Given the description of an element on the screen output the (x, y) to click on. 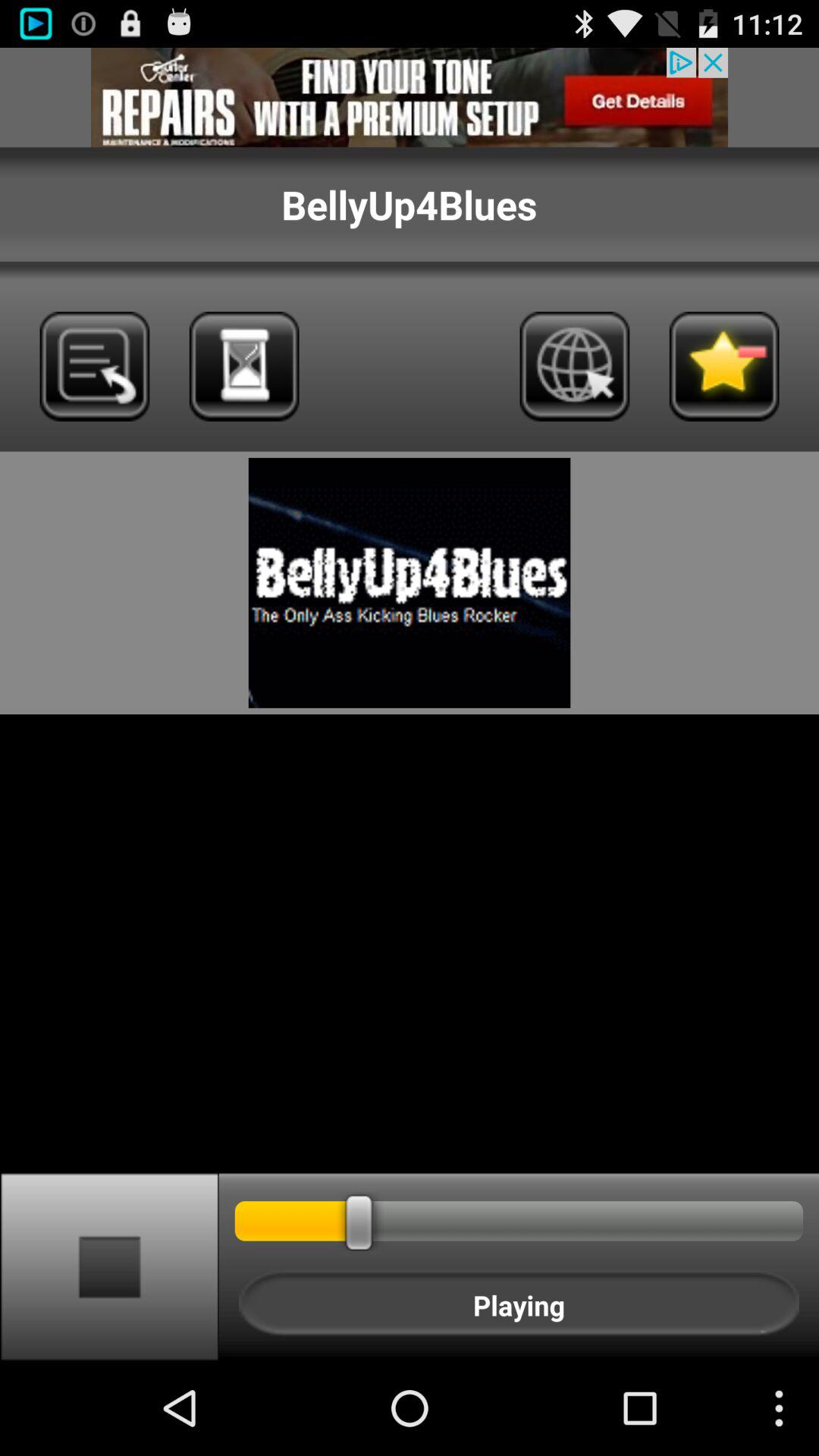
use timer (244, 366)
